Given the description of an element on the screen output the (x, y) to click on. 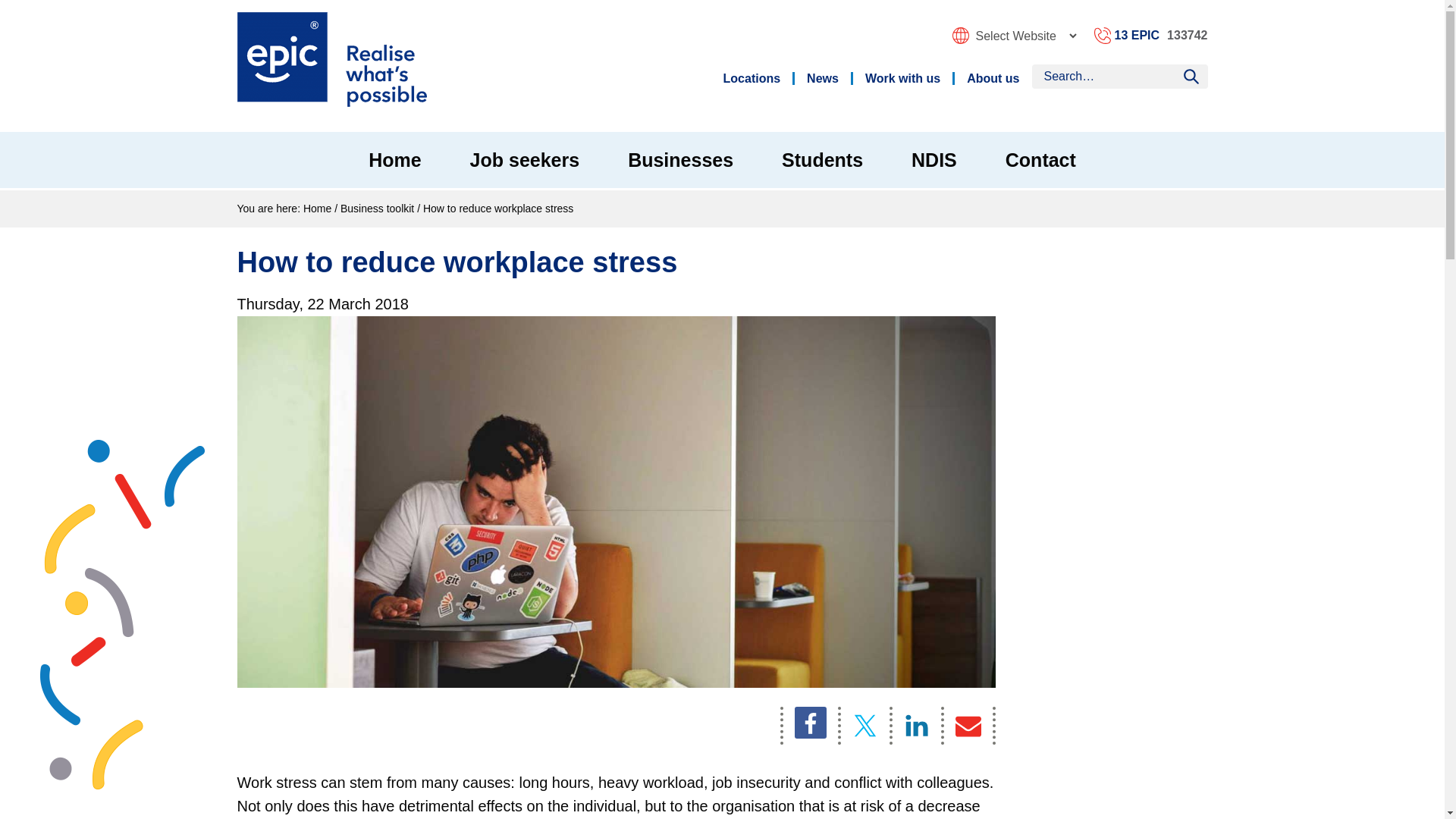
About us (991, 78)
Contact (1040, 159)
NDIS (933, 159)
Share on Facebook (807, 725)
Share on Twitter (862, 725)
Businesses (680, 159)
Home (394, 159)
Share on LinkedIn (914, 725)
search-submit (1190, 76)
Job seekers (524, 159)
